Given the description of an element on the screen output the (x, y) to click on. 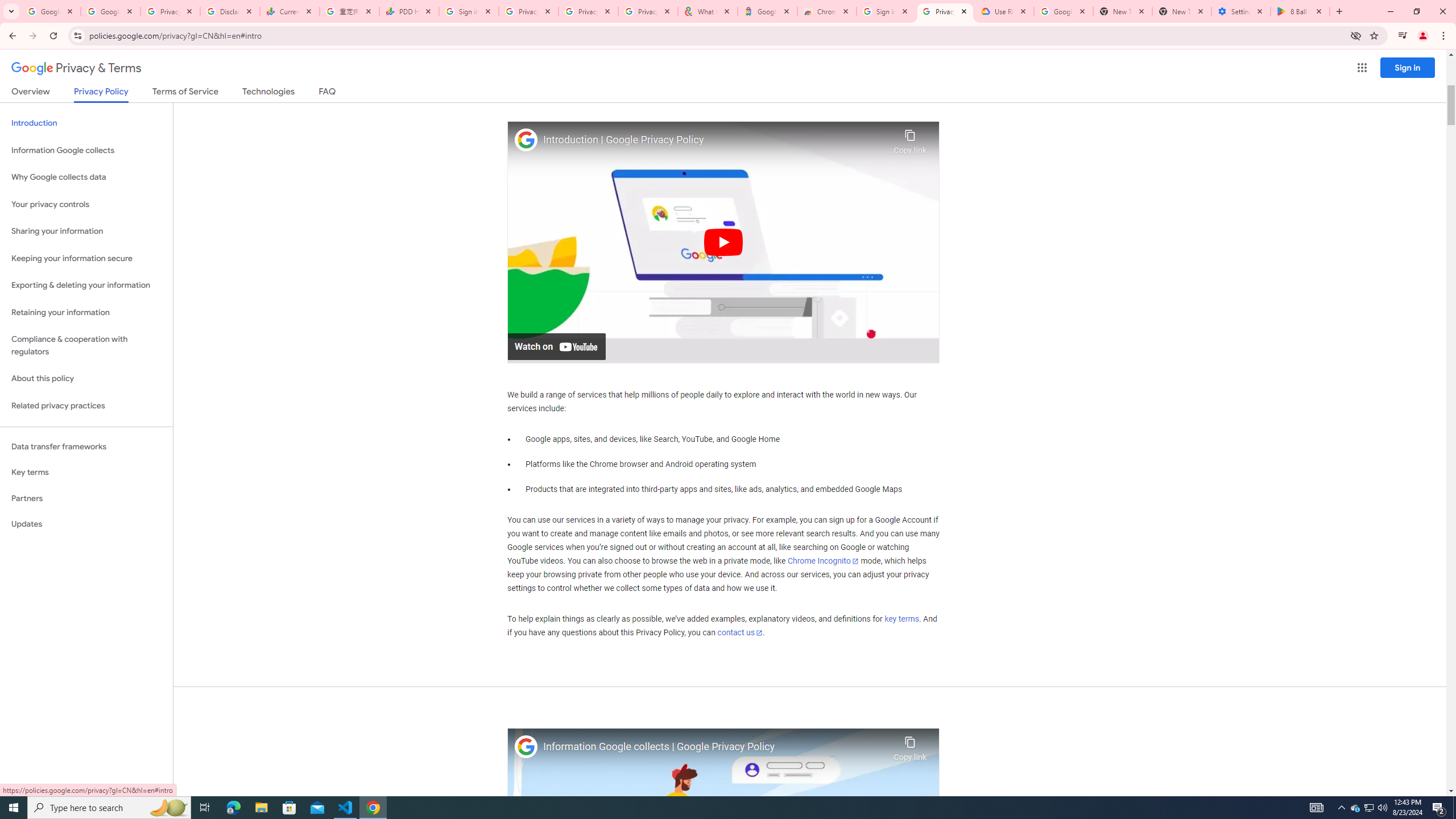
PDD Holdings Inc - ADR (PDD) Price & News - Google Finance (409, 11)
key terms (900, 619)
Photo image of Google (526, 746)
Google (767, 11)
Introduction (86, 122)
New Tab (1182, 11)
Information Google collects (86, 150)
Watch on YouTube (556, 346)
